Given the description of an element on the screen output the (x, y) to click on. 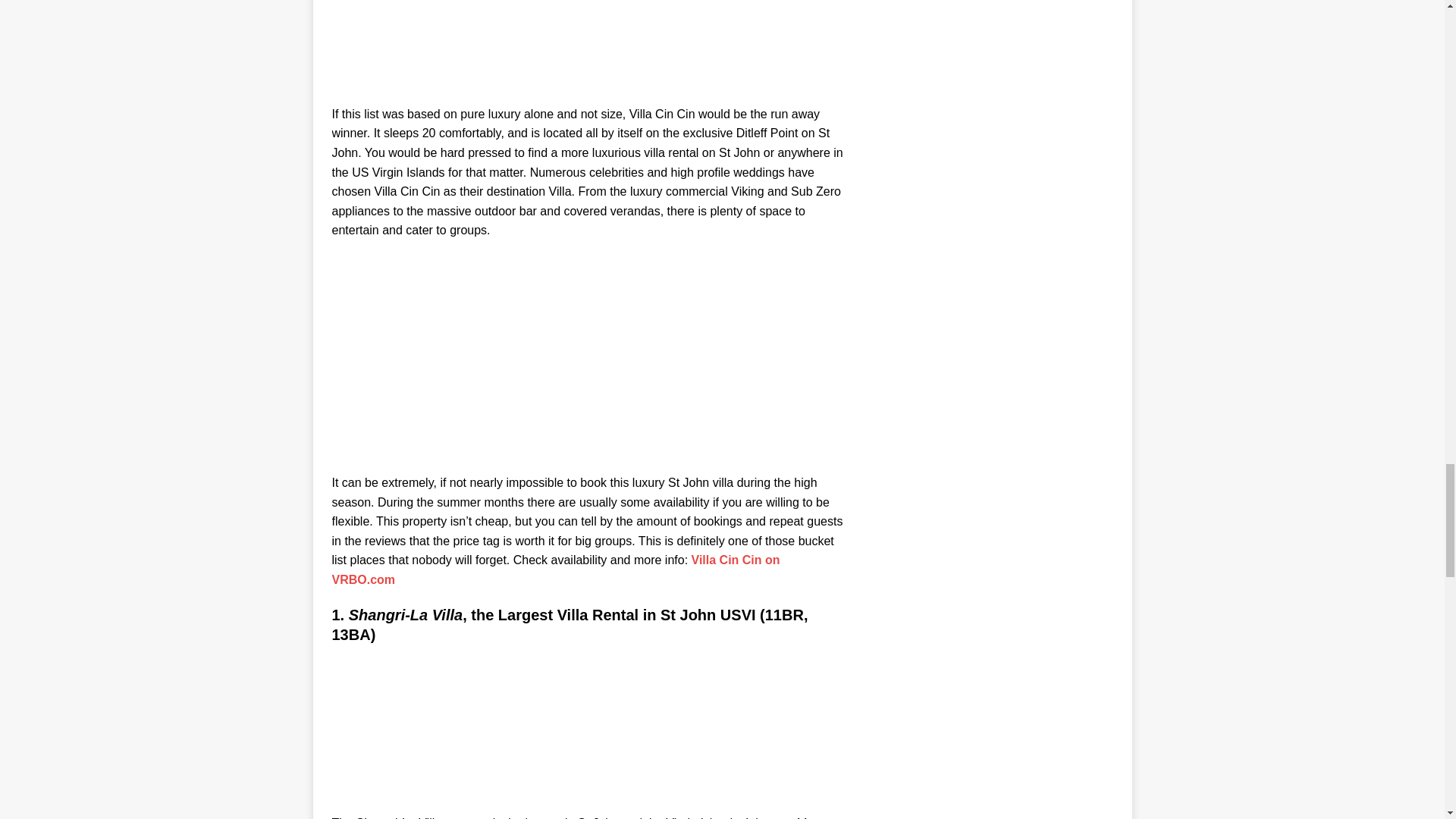
Villa Cin Cin on VRBO.com (555, 569)
